Given the description of an element on the screen output the (x, y) to click on. 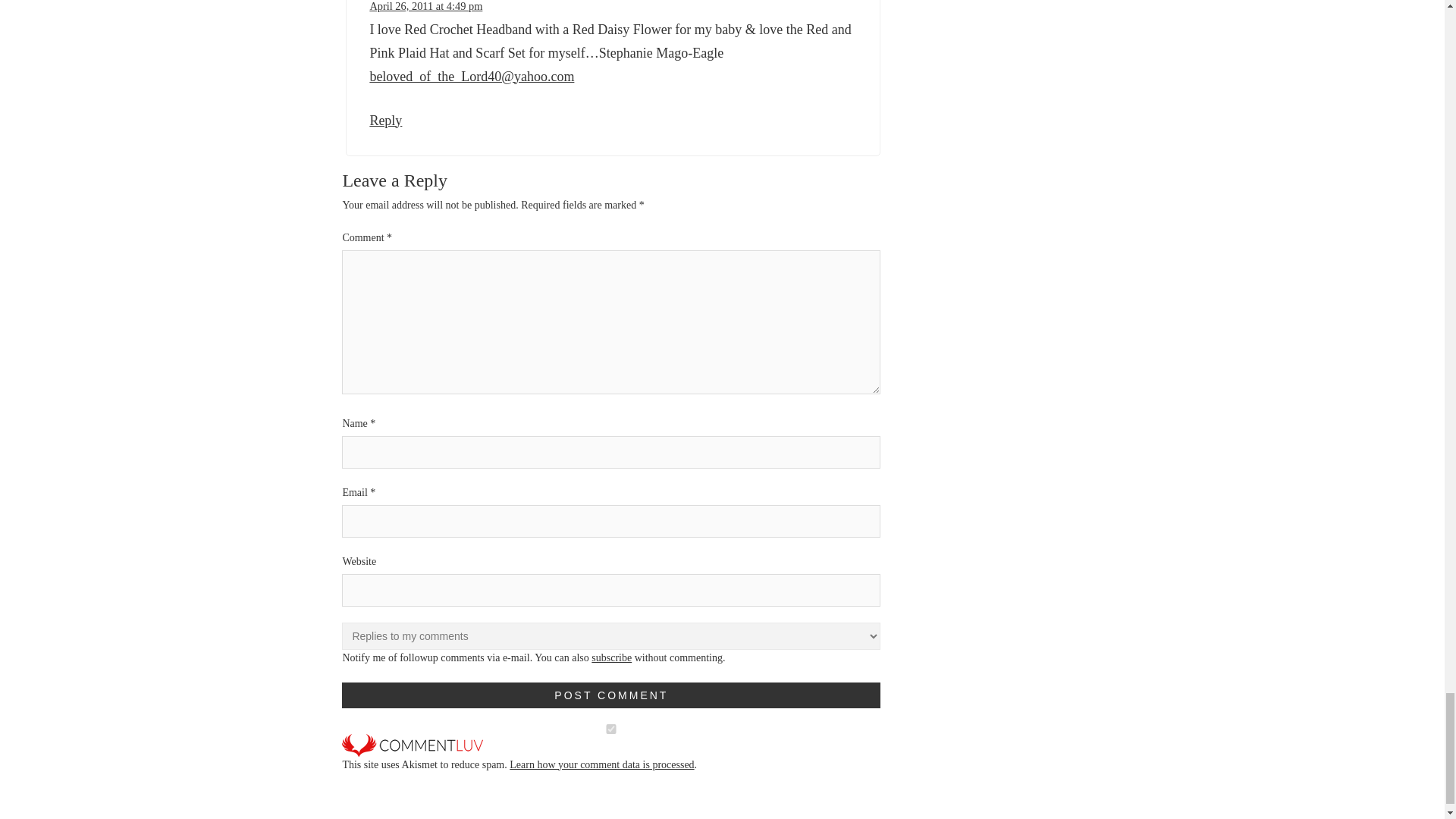
Post Comment (611, 695)
on (611, 728)
CommentLuv is enabled (412, 744)
